Given the description of an element on the screen output the (x, y) to click on. 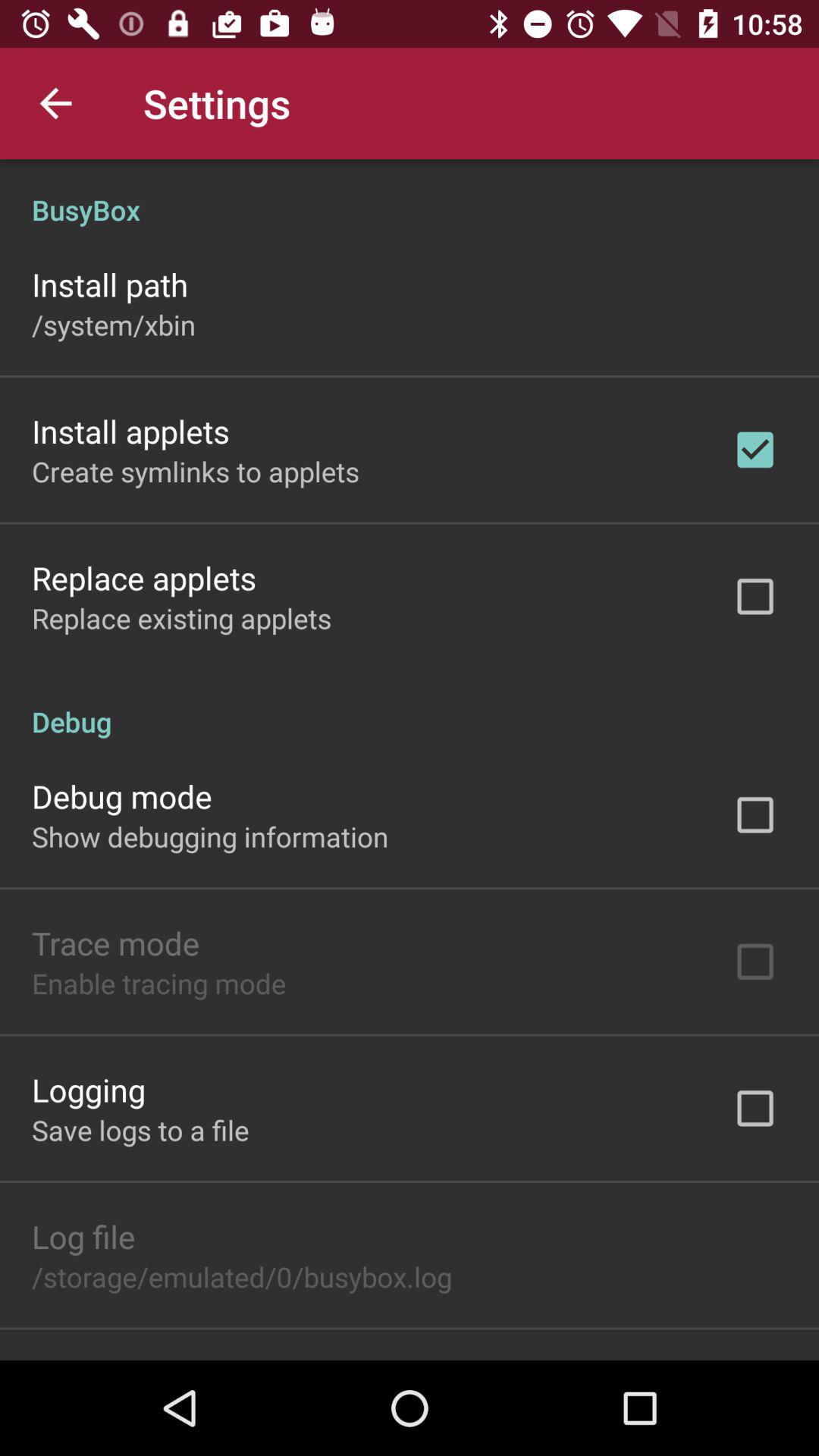
launch the item above create symlinks to (130, 430)
